Given the description of an element on the screen output the (x, y) to click on. 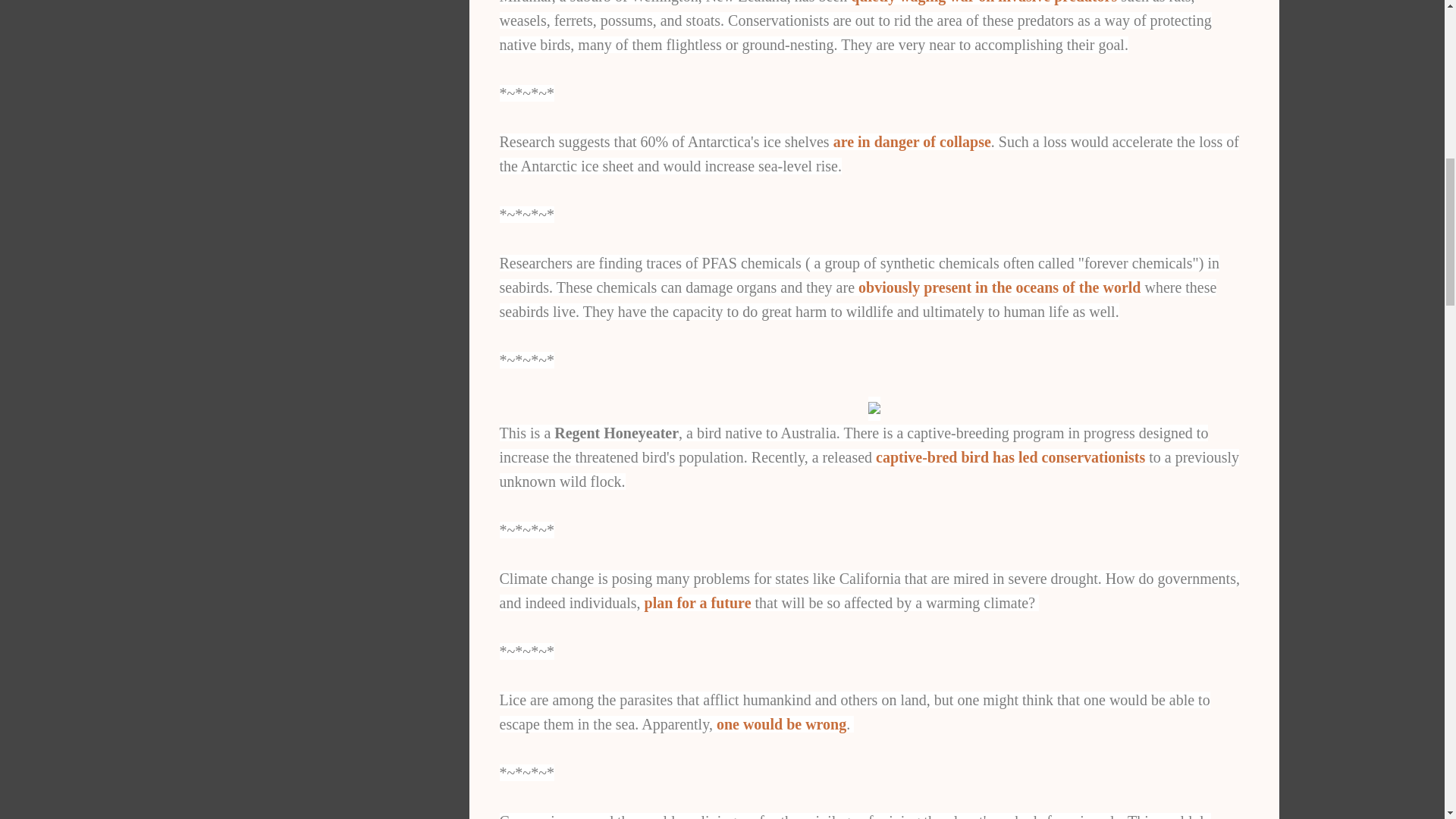
captive-bred bird has led conservationists (1010, 457)
plan for a future (698, 602)
quietly waging war on invasive predators (983, 2)
obviously present in the oceans of the world (999, 287)
one would be wrong (780, 723)
are in danger of collapse (911, 141)
